Given the description of an element on the screen output the (x, y) to click on. 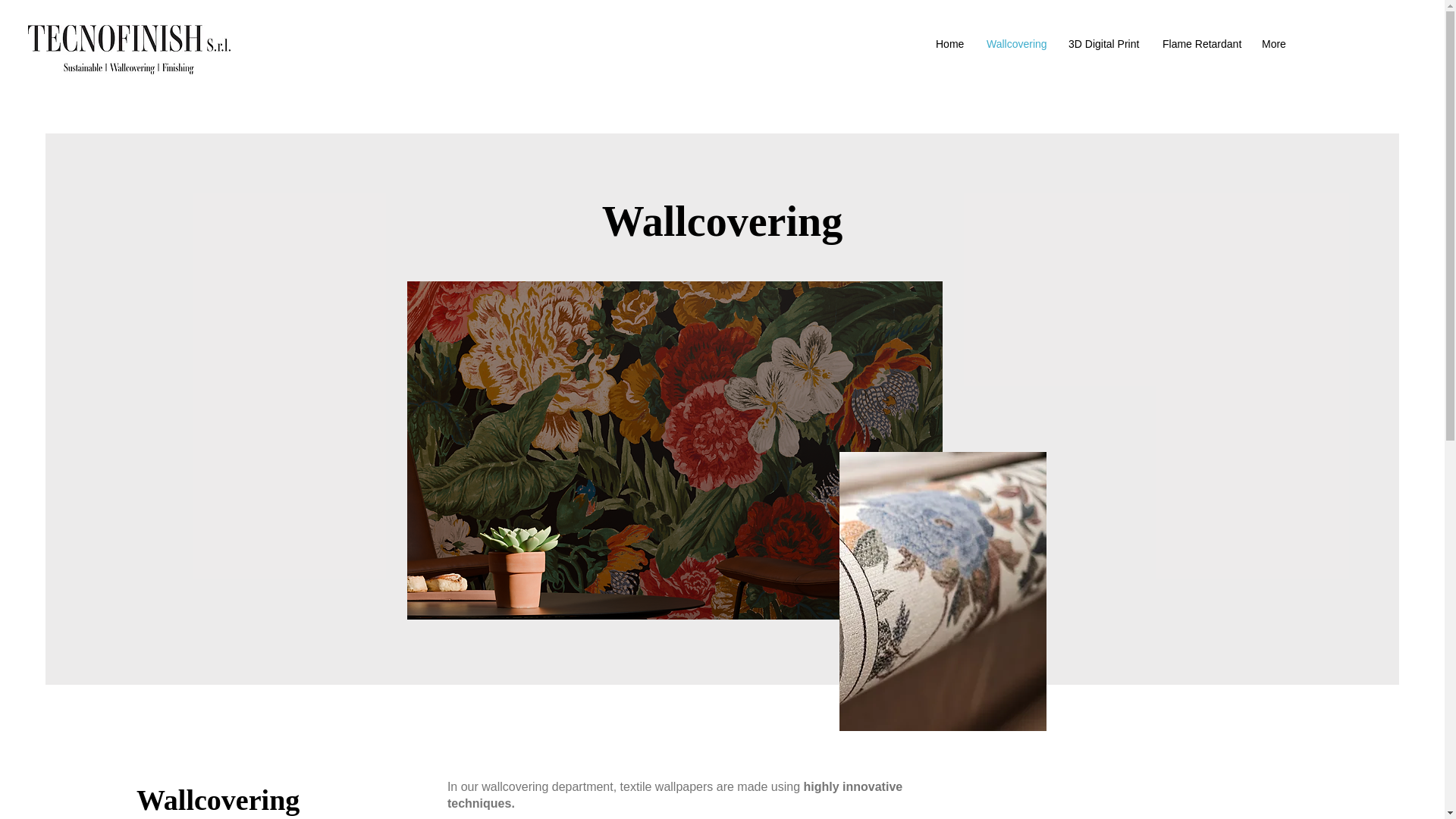
Flame Retardant (1200, 44)
3D Digital Print (1104, 44)
Wallcovering (1016, 44)
Home (949, 44)
